Given the description of an element on the screen output the (x, y) to click on. 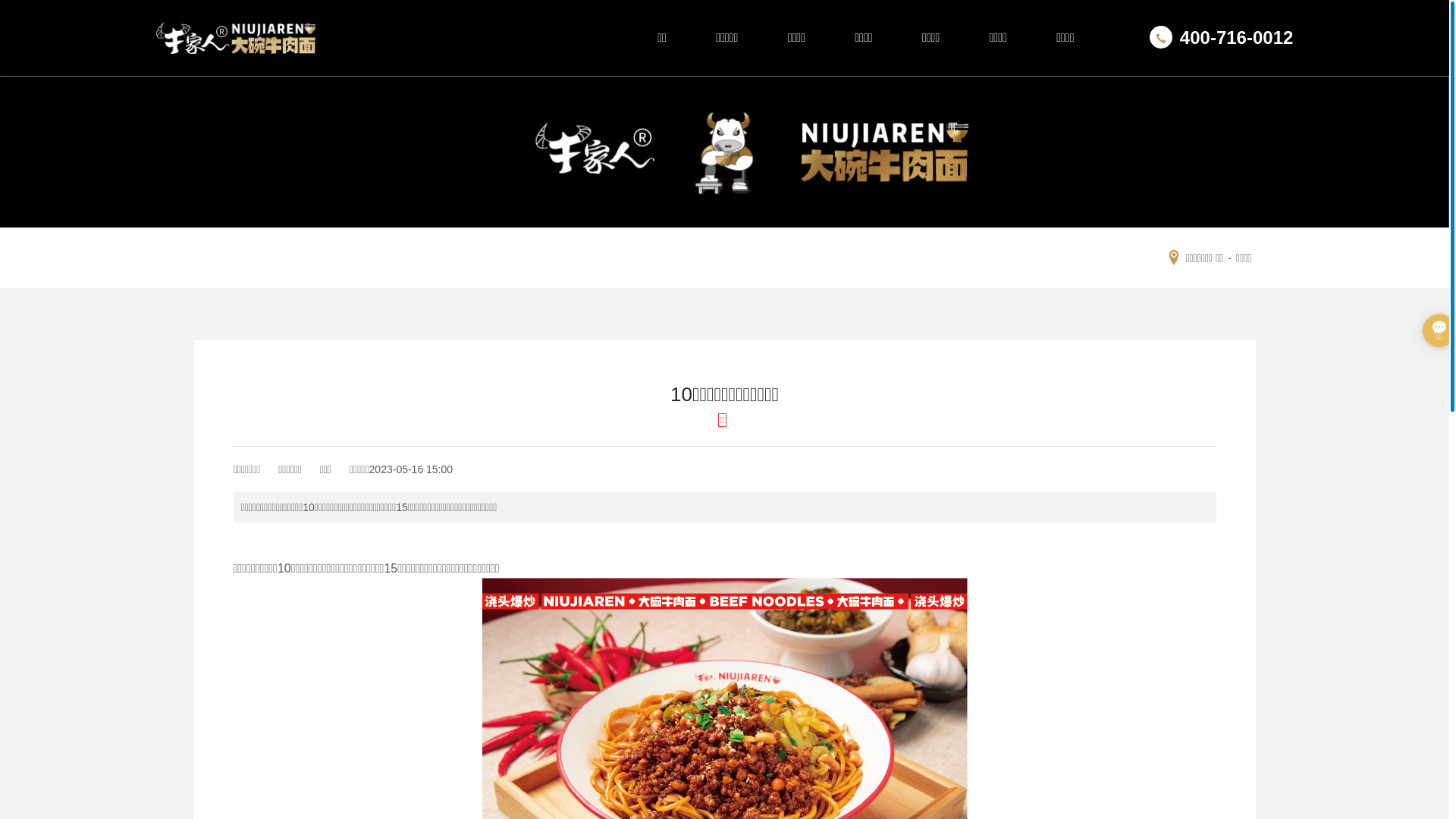
400-716-0012 Element type: text (1220, 37)
